Given the description of an element on the screen output the (x, y) to click on. 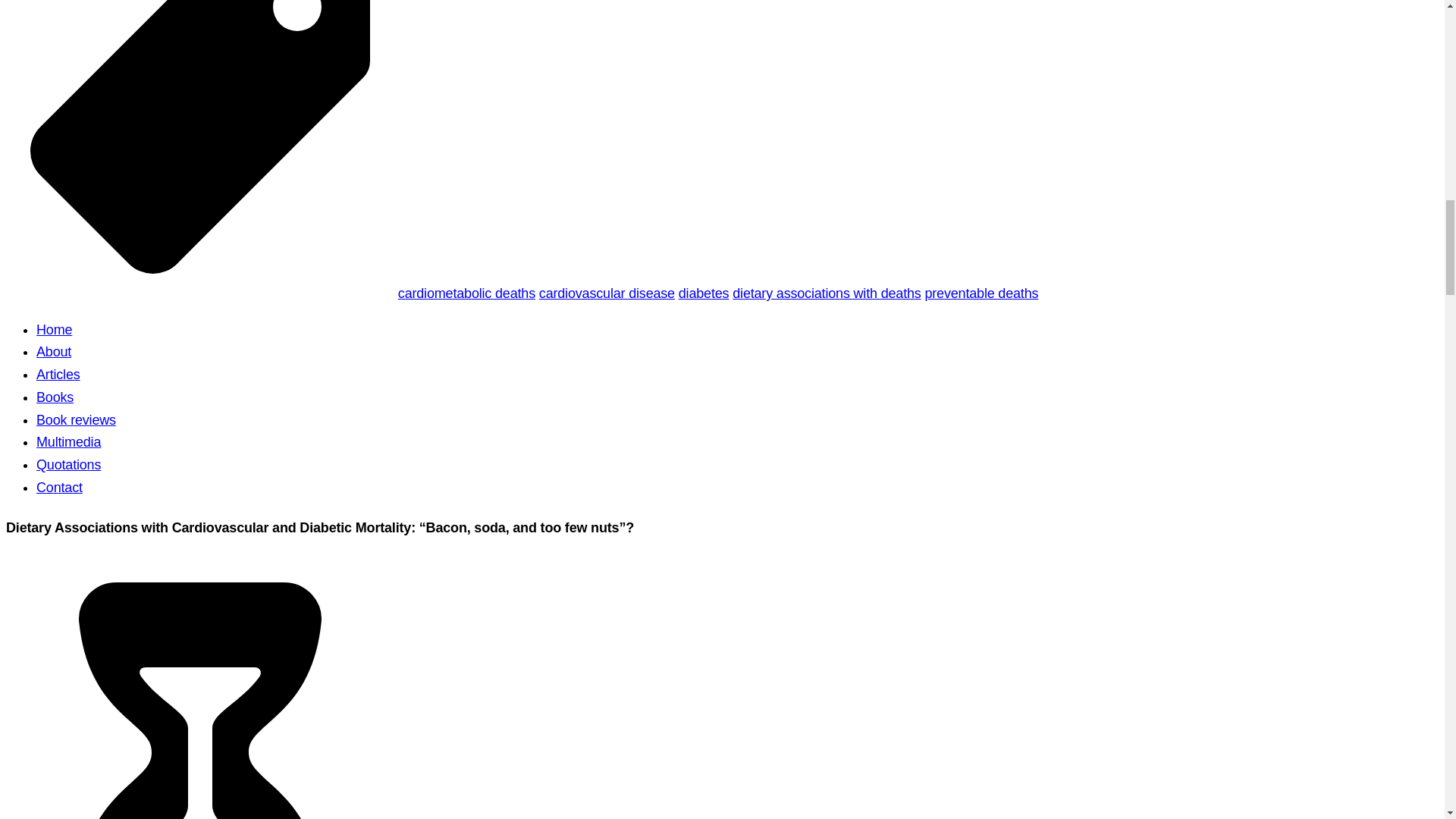
cardiometabolic deaths (466, 293)
Books (55, 396)
Book reviews (76, 419)
About (53, 351)
dietary associations with deaths (826, 293)
Quotations (68, 464)
Multimedia (68, 441)
Articles (58, 374)
Contact (59, 487)
diabetes (703, 293)
